Given the description of an element on the screen output the (x, y) to click on. 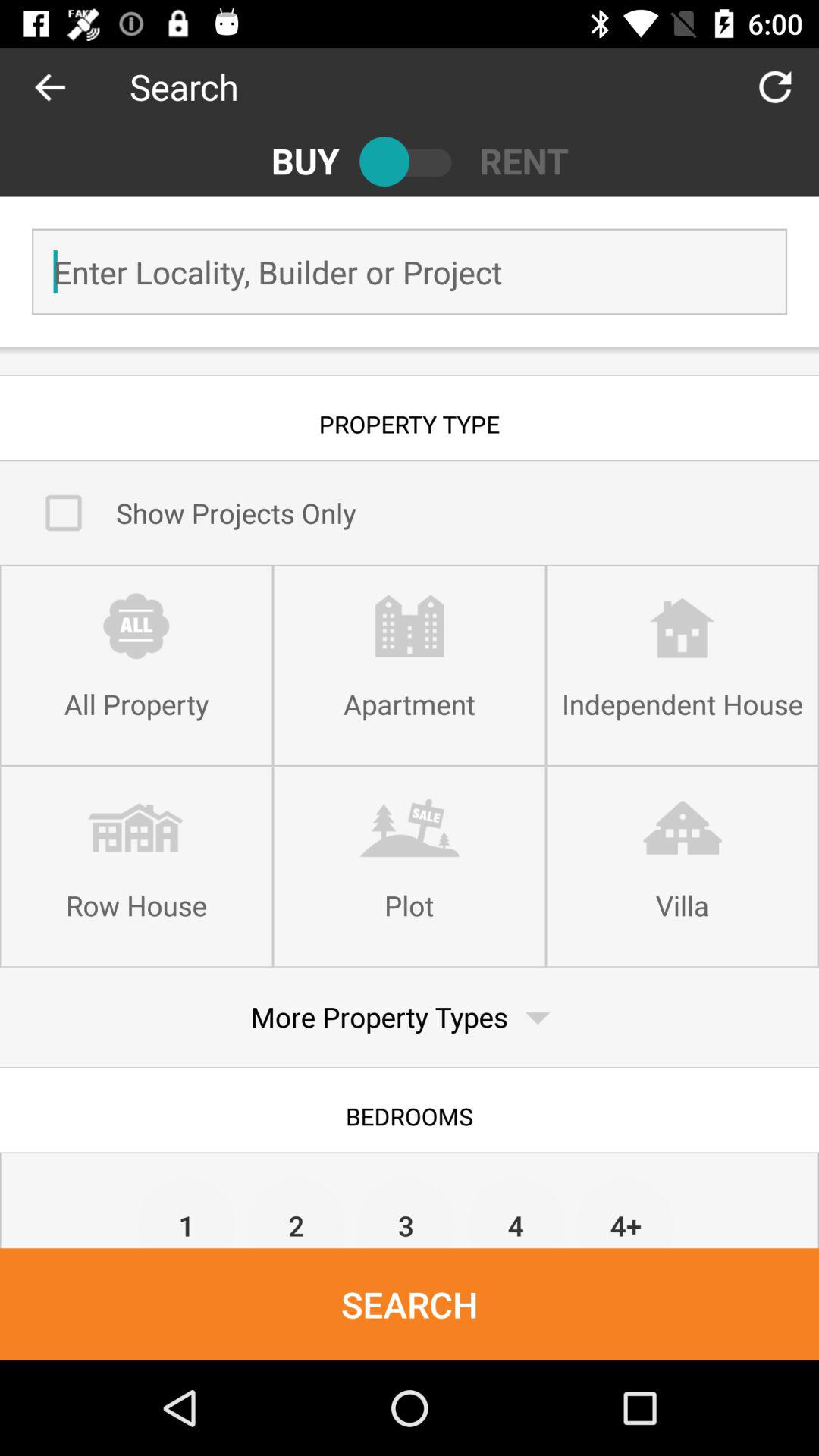
select the icon next to 3 icon (296, 1212)
